Given the description of an element on the screen output the (x, y) to click on. 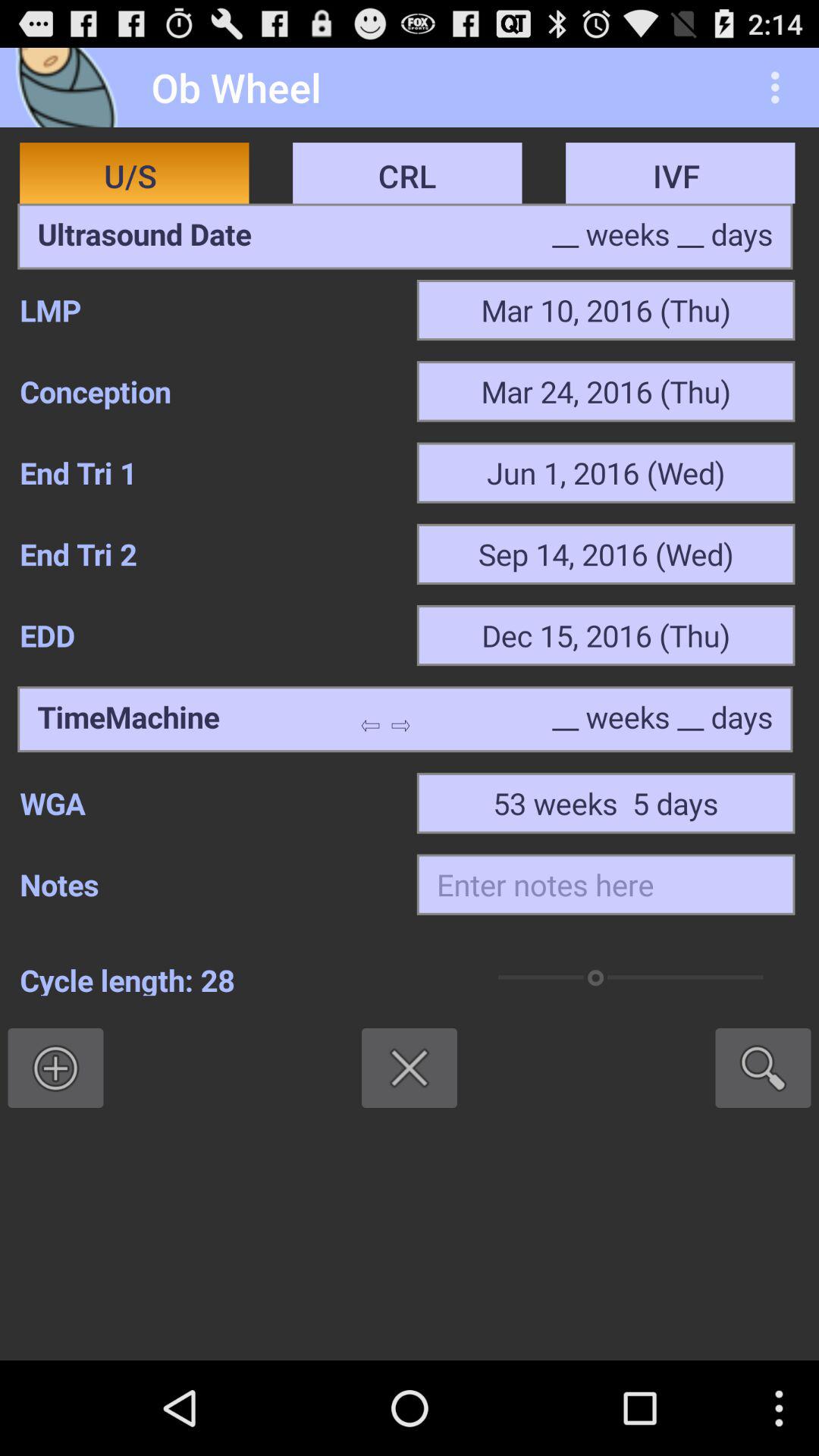
open item to the left of the dec 15 2016 icon (208, 635)
